Given the description of an element on the screen output the (x, y) to click on. 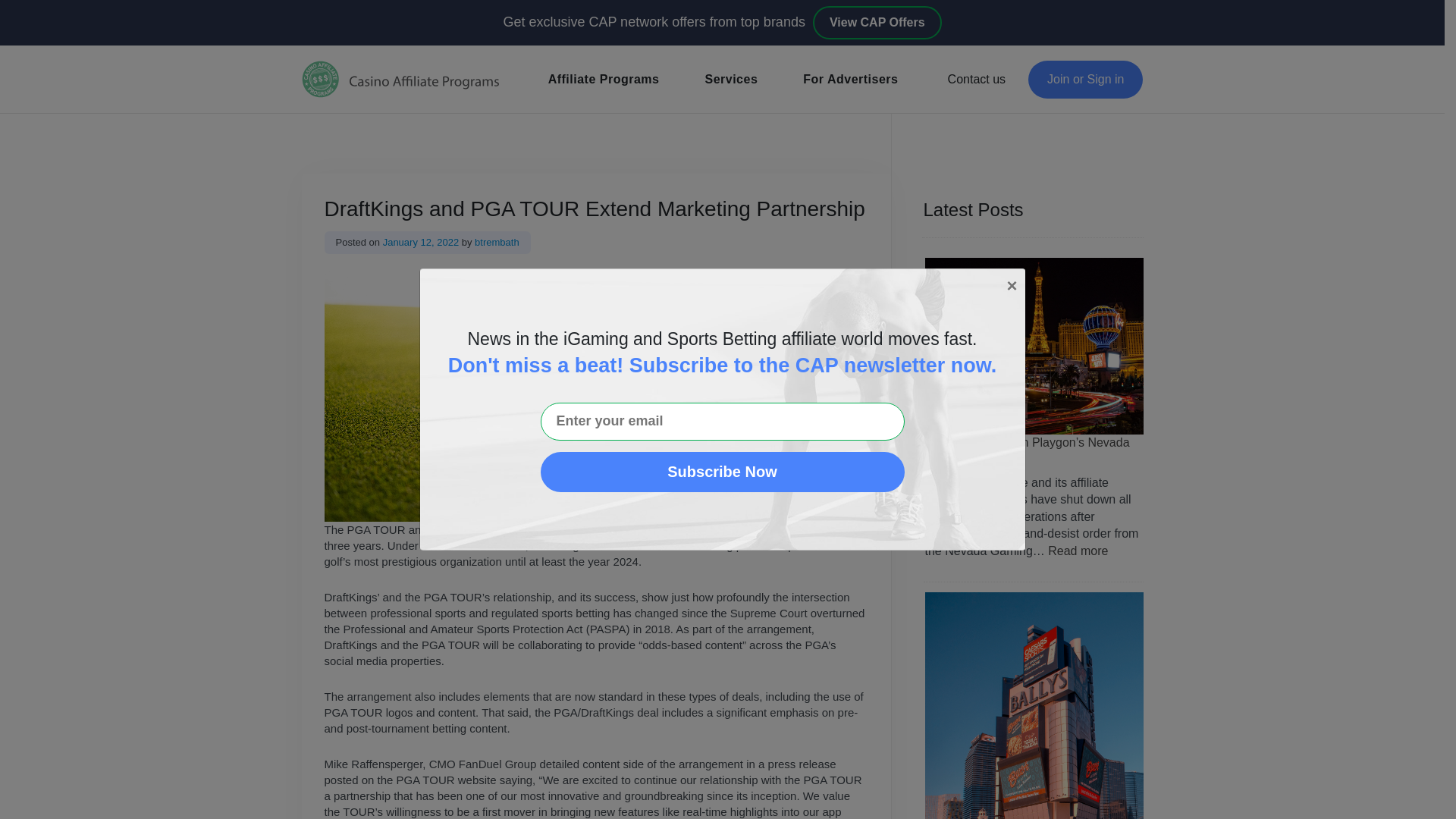
Affiliate Programs (603, 79)
Contact us (975, 79)
View CAP Offers (877, 22)
Services (730, 79)
Join or Sign in (1084, 79)
For Advertisers (850, 79)
